Given the description of an element on the screen output the (x, y) to click on. 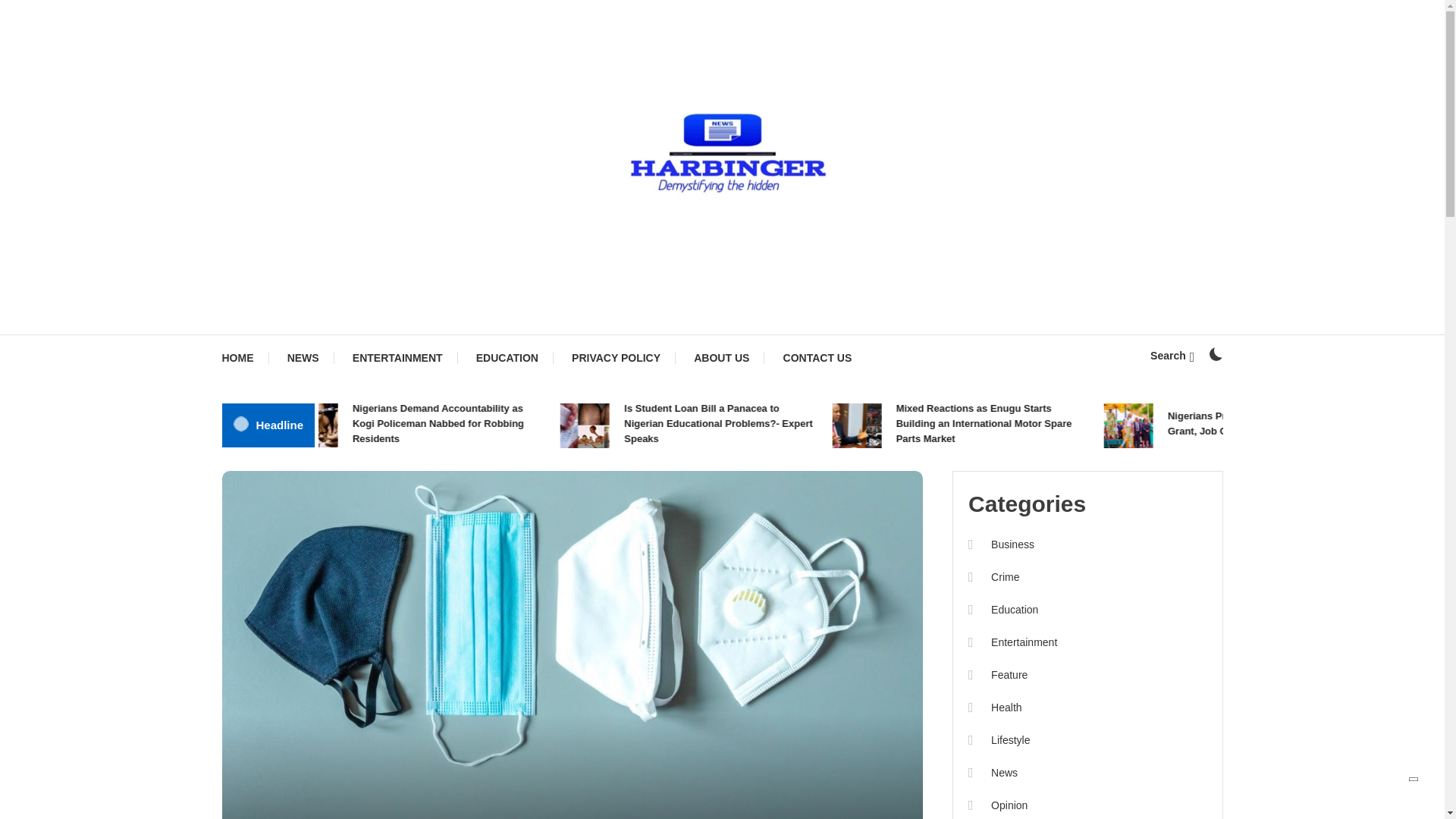
on (1215, 354)
CONTACT US (817, 357)
Harbinger (248, 307)
PRIVACY POLICY (615, 357)
HOME (244, 357)
ENTERTAINMENT (397, 357)
Search (1171, 355)
NEWS (303, 357)
EDUCATION (507, 357)
Search (768, 434)
ABOUT US (721, 357)
